Given the description of an element on the screen output the (x, y) to click on. 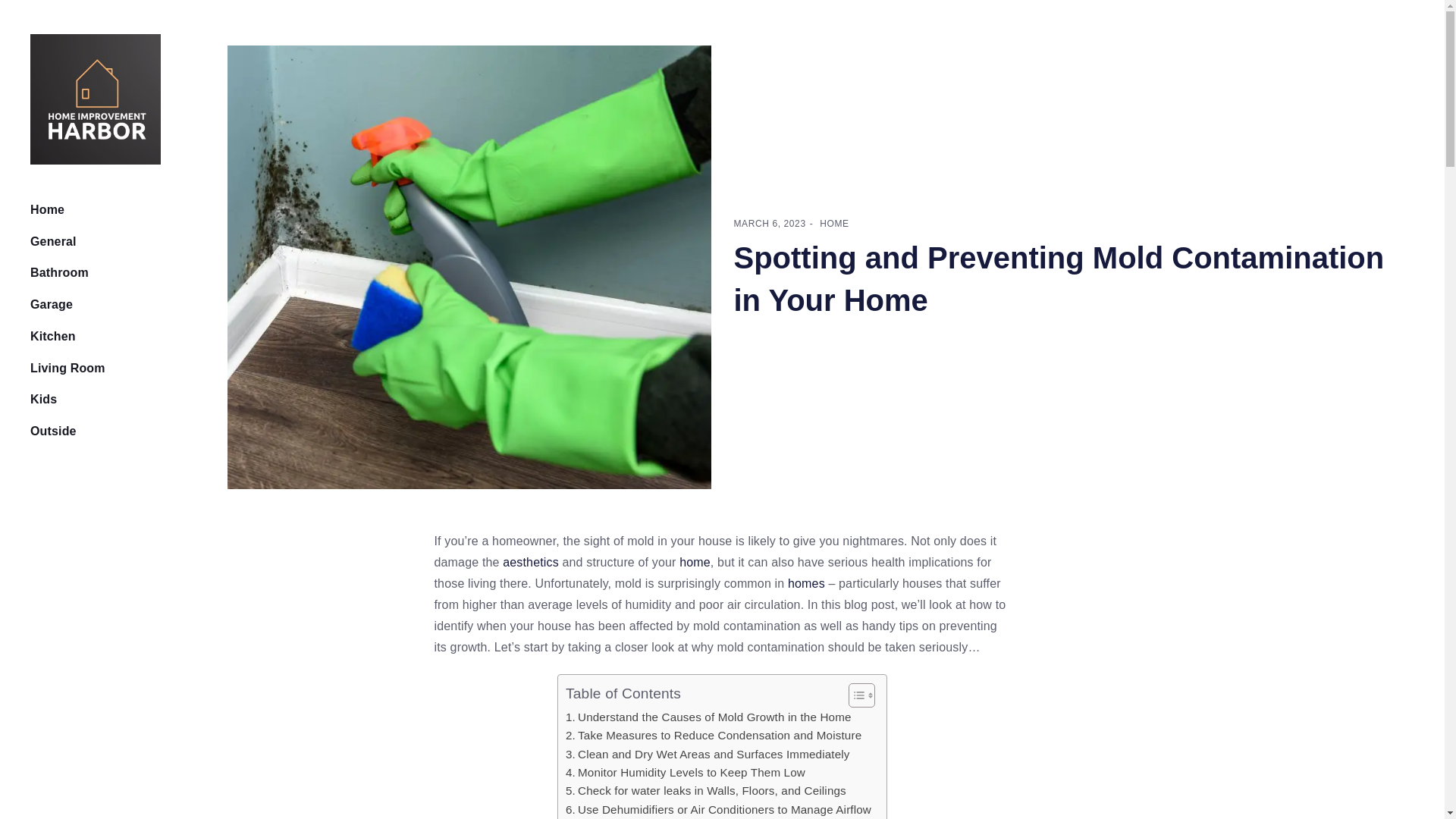
Use Dehumidifiers or Air Conditioners to Manage Airflow (718, 809)
Spotting and Preventing Mold Contamination in Your Home (1058, 278)
aesthetics (530, 562)
Living Room (67, 368)
Take Measures to Reduce Condensation and Moisture (713, 735)
Understand the Causes of Mold Growth in the Home (708, 717)
home (694, 562)
Kitchen (67, 336)
Check for water leaks in Walls, Floors, and Ceilings (705, 791)
Outside (81, 431)
